Given the description of an element on the screen output the (x, y) to click on. 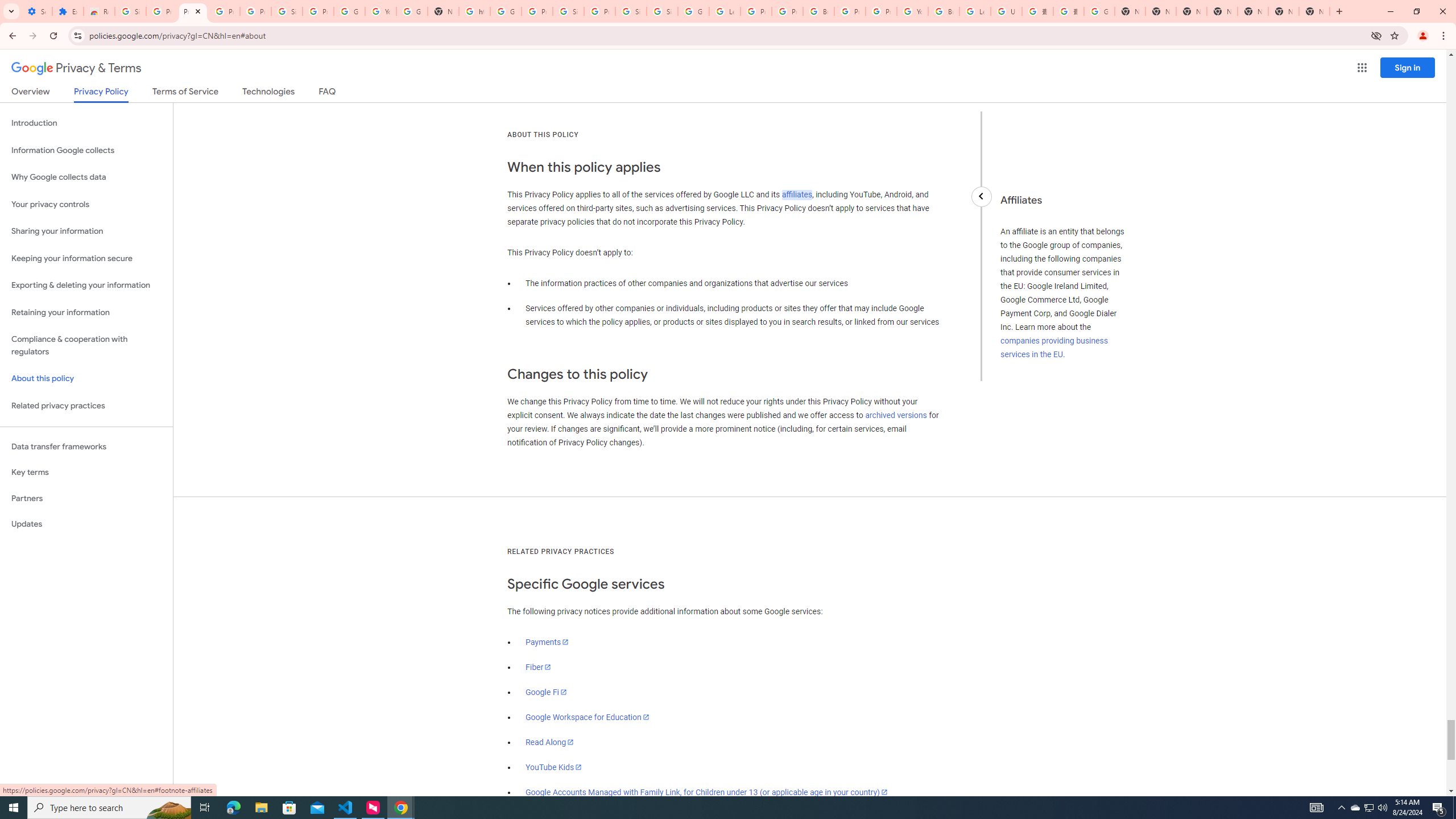
Retaining your information (86, 312)
Settings - On startup (36, 11)
YouTube (912, 11)
Sign in - Google Accounts (662, 11)
Google Account (349, 11)
Fiber (538, 666)
